Given the description of an element on the screen output the (x, y) to click on. 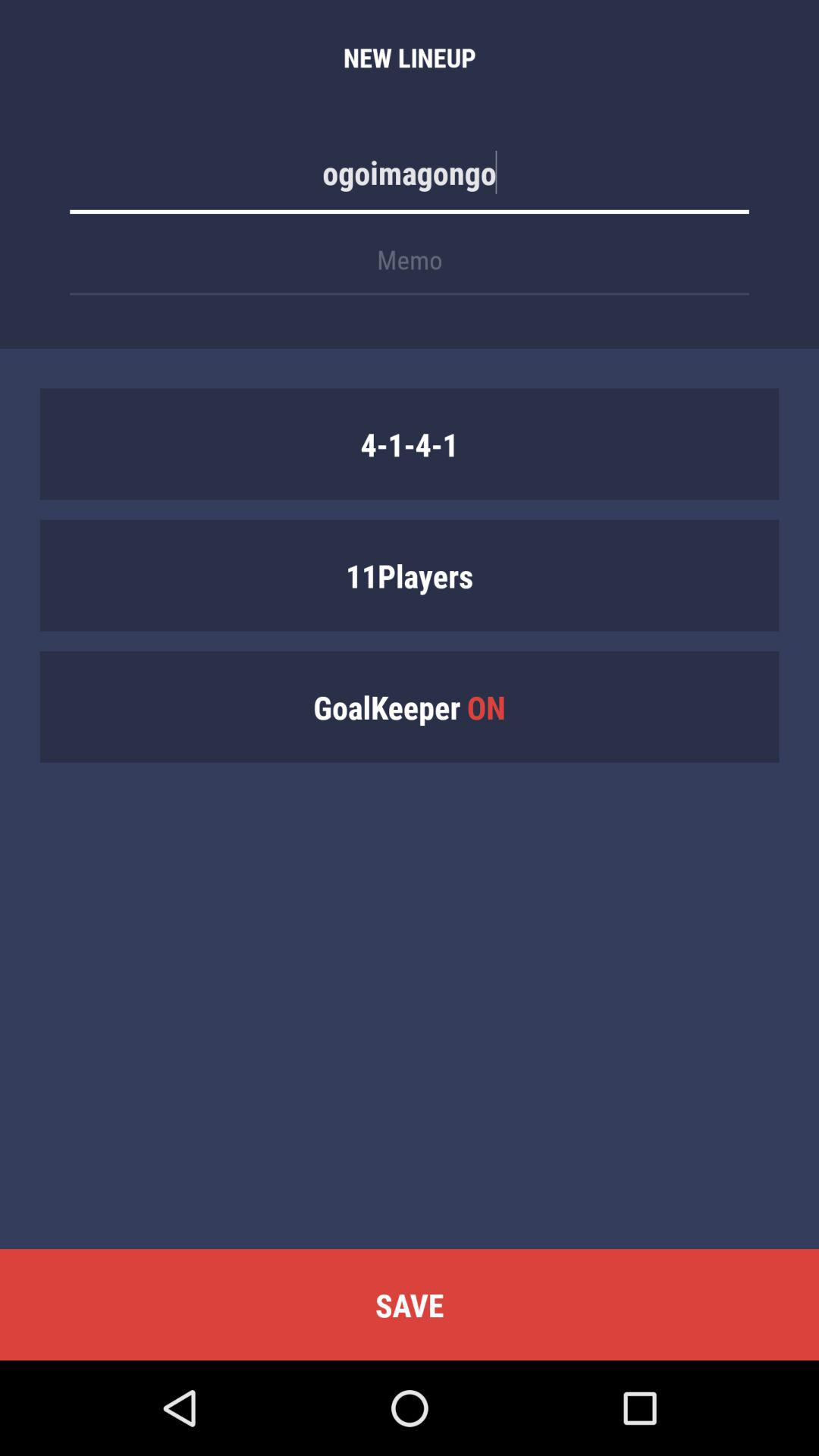
click item above 4 1 4 item (409, 266)
